Given the description of an element on the screen output the (x, y) to click on. 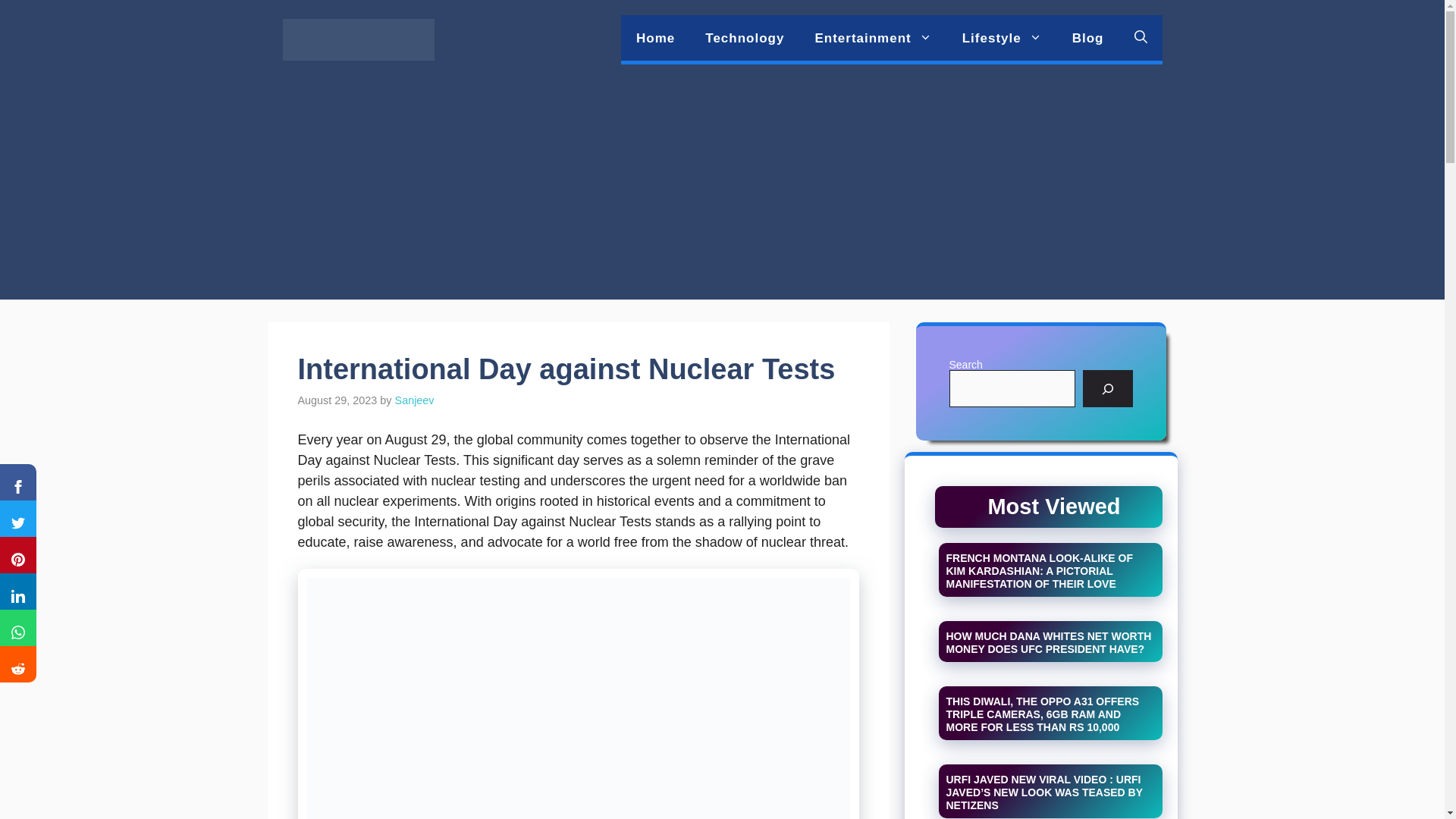
Home (655, 38)
Sanjeev (413, 399)
Blog (1088, 38)
Lifestyle (1002, 38)
Technology (744, 38)
View all posts by Sanjeev (413, 399)
Entertainment (872, 38)
